Given the description of an element on the screen output the (x, y) to click on. 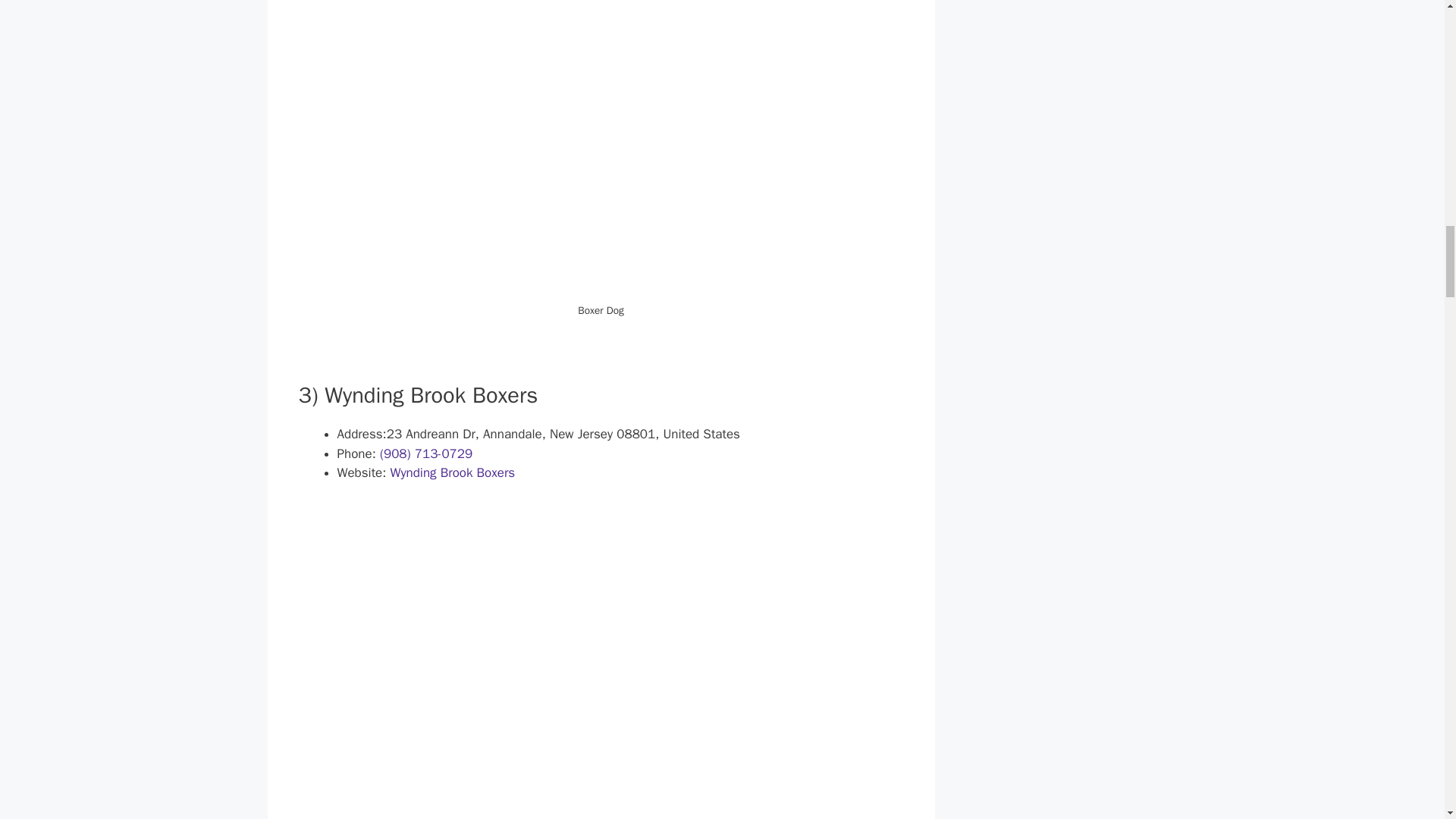
Wynding Brook Boxers (452, 472)
